Given the description of an element on the screen output the (x, y) to click on. 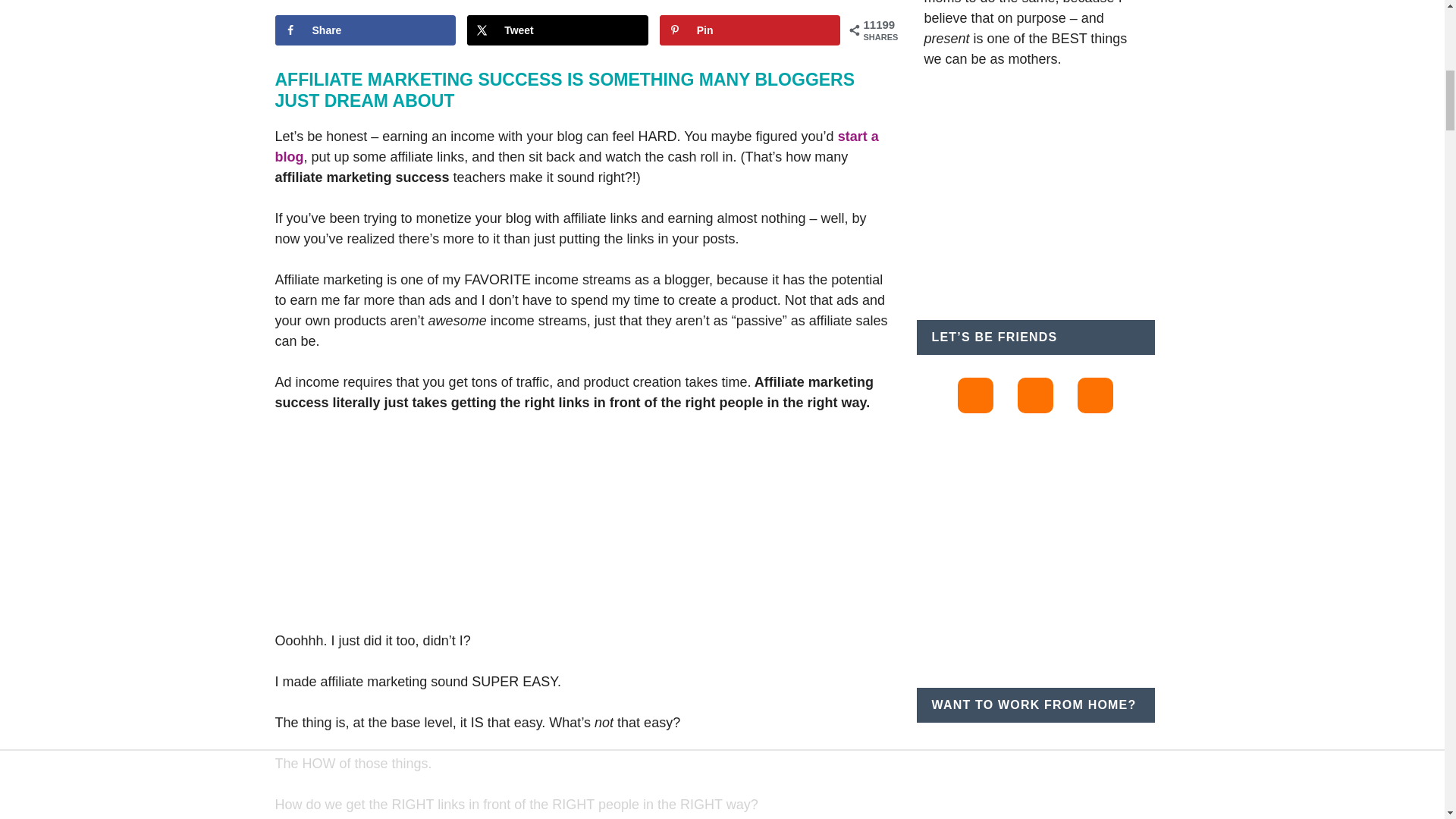
Save to Pinterest (750, 30)
Share on X (557, 30)
Share on Facebook (365, 30)
